Given the description of an element on the screen output the (x, y) to click on. 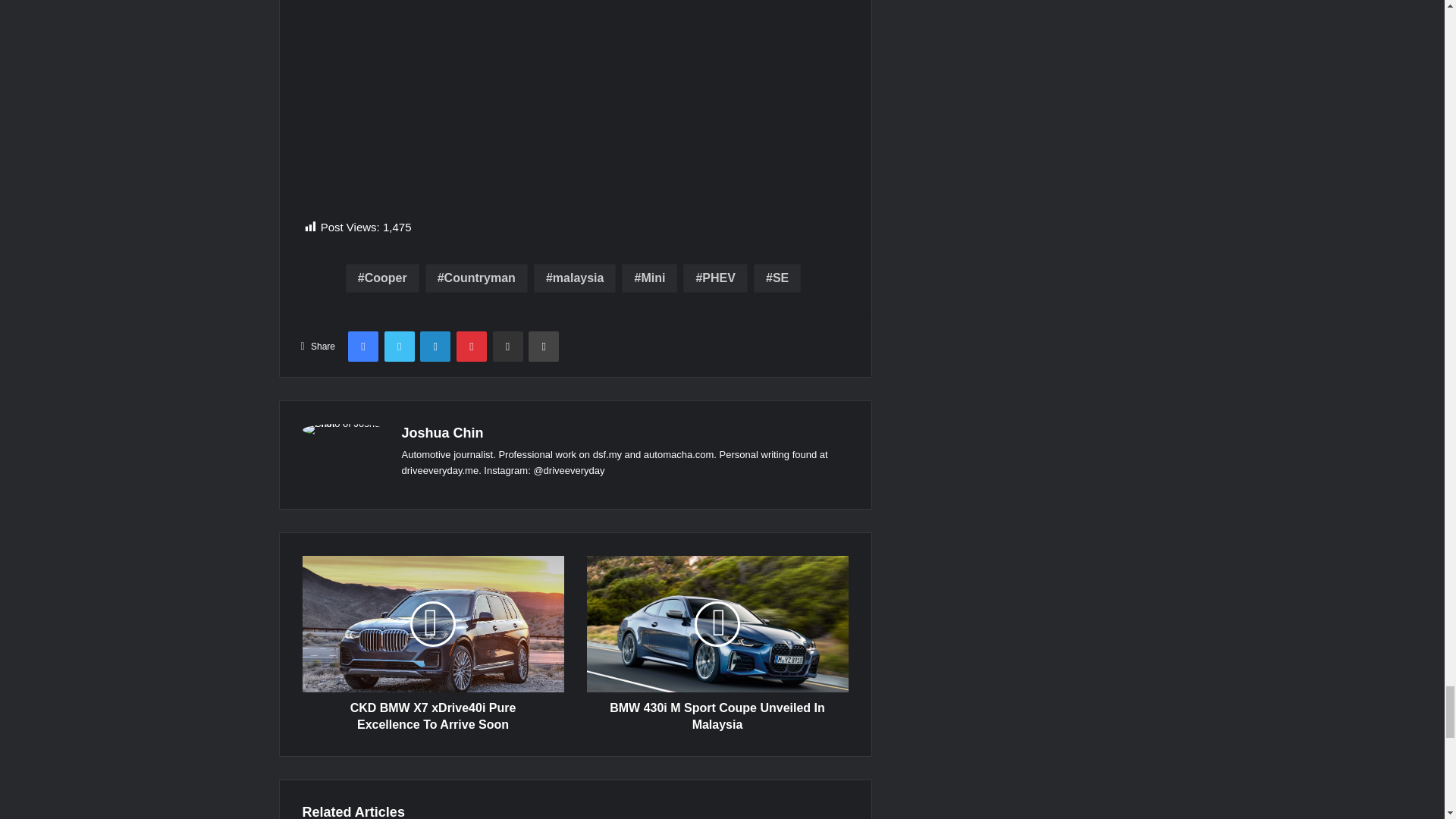
malaysia (574, 277)
Mini (649, 277)
Countryman (476, 277)
Cooper (382, 277)
